Given the description of an element on the screen output the (x, y) to click on. 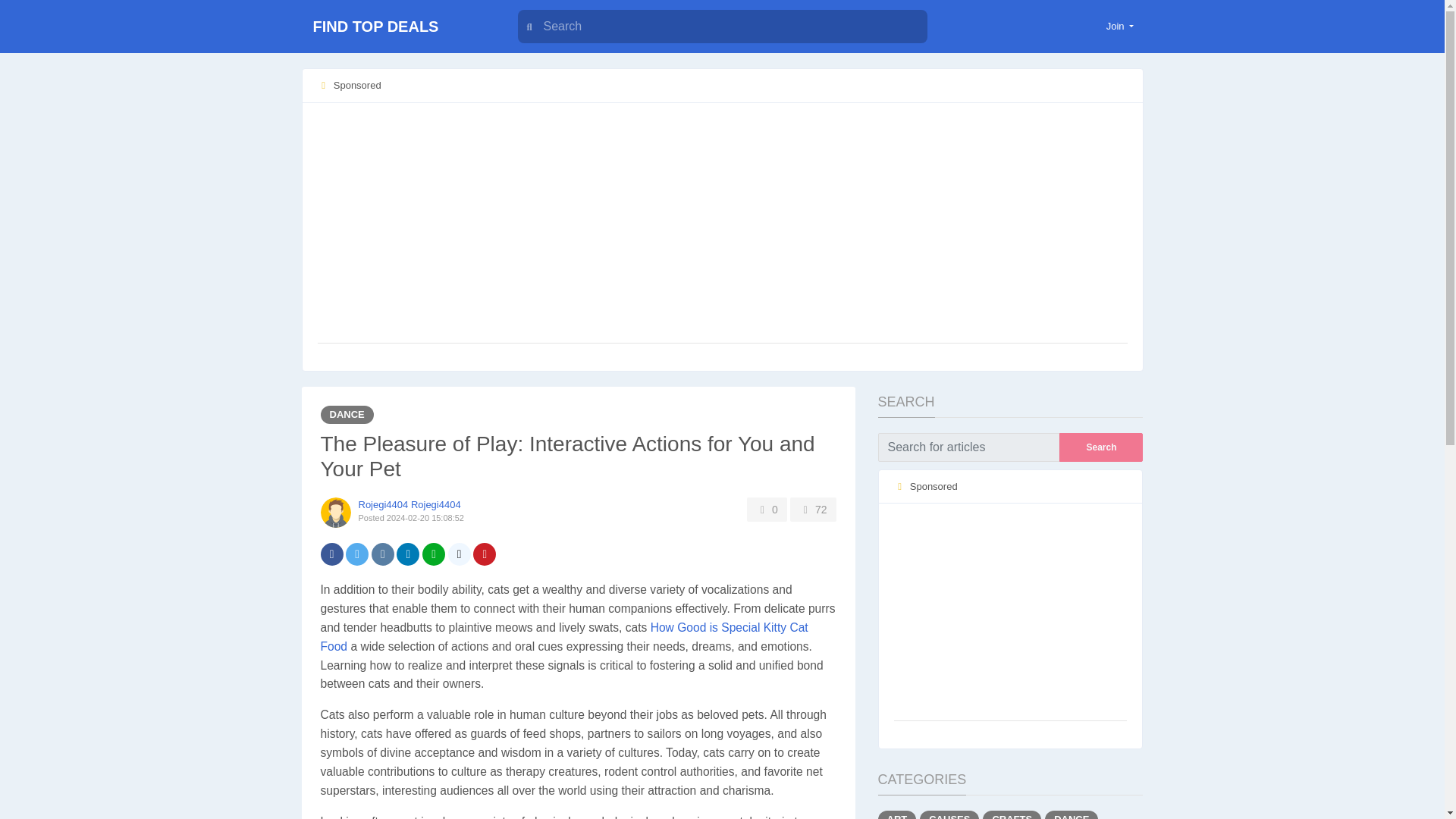
Rojegi4404 Rojegi4404 (409, 504)
CRAFTS (1011, 814)
DANCE (346, 413)
FIND TOP DEALS (396, 26)
How Good is Special Kitty Cat Food (564, 636)
Advertisement (1009, 613)
CAUSES (949, 814)
Search (1100, 446)
DANCE (1071, 814)
